Given the description of an element on the screen output the (x, y) to click on. 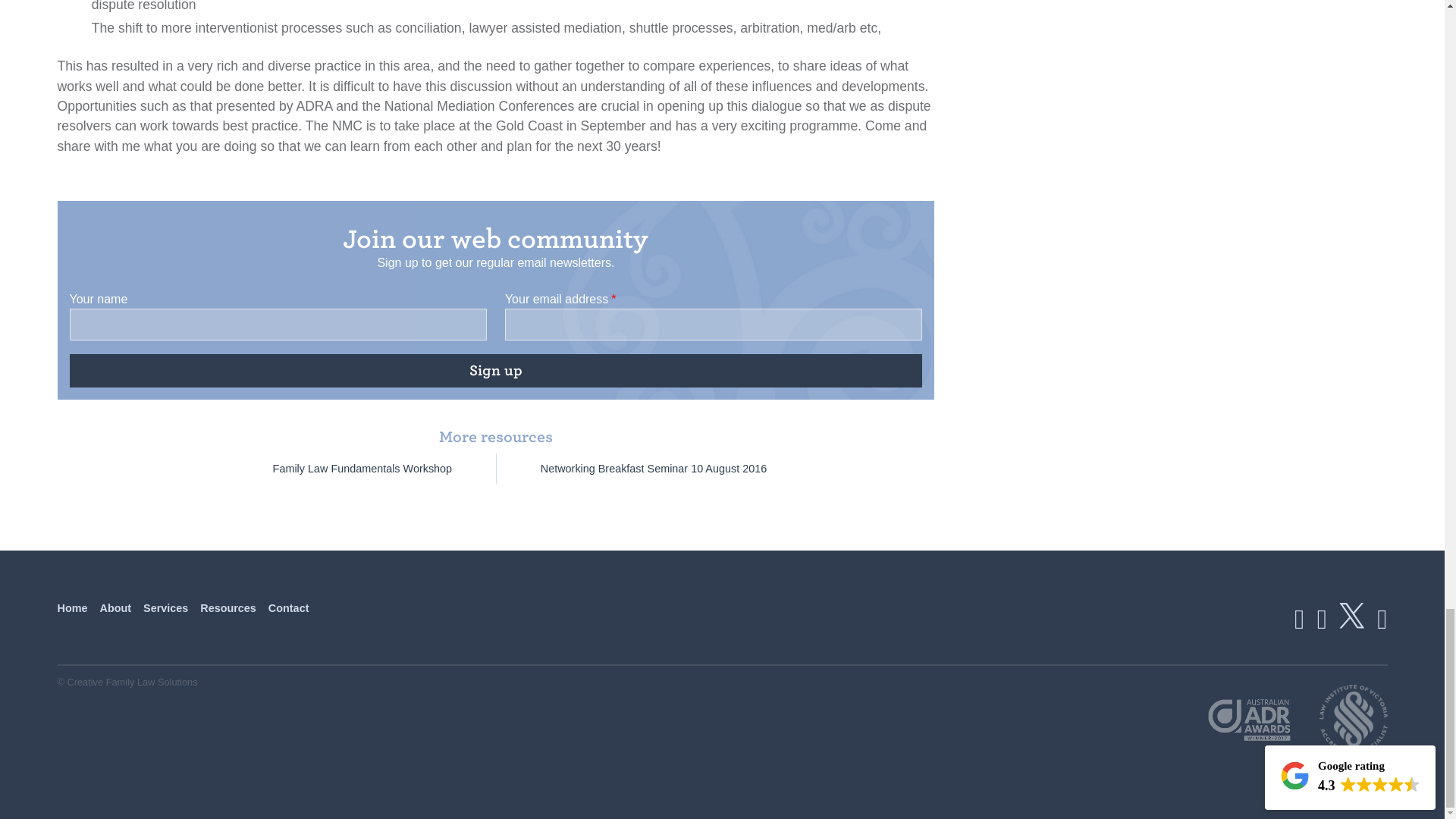
Sign up (496, 370)
Home (72, 607)
LinkedIn (1321, 618)
Family Law Fundamentals Workshop (362, 468)
CFL Solutions on Facebook (1299, 618)
CFL Solutions on LinkedIn (1321, 618)
Services (164, 607)
Networking Breakfast Seminar 10 August 2016 (653, 468)
About (115, 607)
Contact (287, 607)
Sign up (496, 370)
Resources (228, 607)
CFL Solutions on Twitter (1352, 615)
CFL Solutions on Instagram (1382, 618)
Facebook (1299, 618)
